Given the description of an element on the screen output the (x, y) to click on. 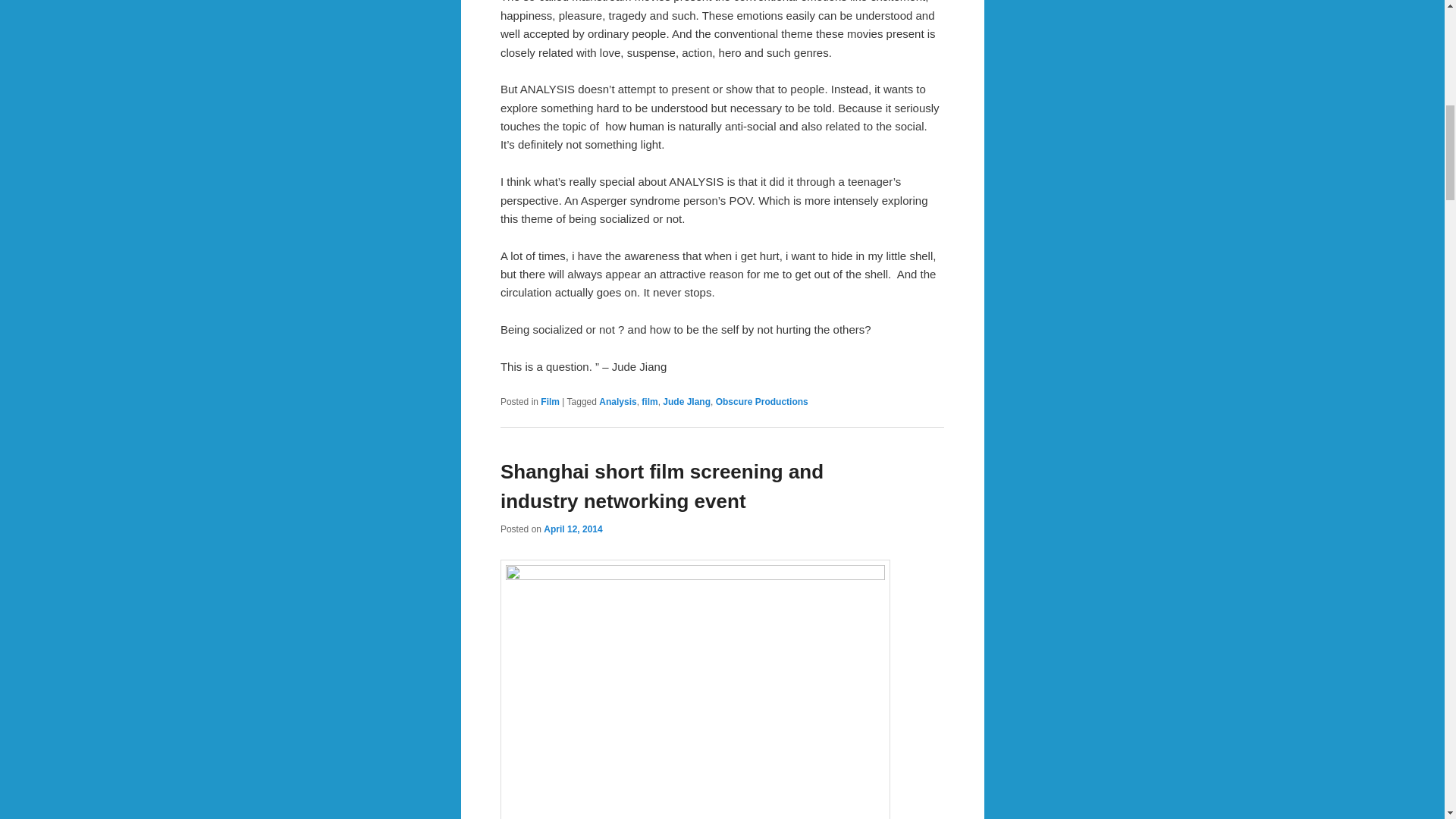
Film (549, 401)
Obscure Productions (762, 401)
film (650, 401)
22:45 (572, 529)
April 12, 2014 (572, 529)
Analysis (617, 401)
Jude JIang (686, 401)
Shanghai short film screening and industry networking event (662, 486)
